Given the description of an element on the screen output the (x, y) to click on. 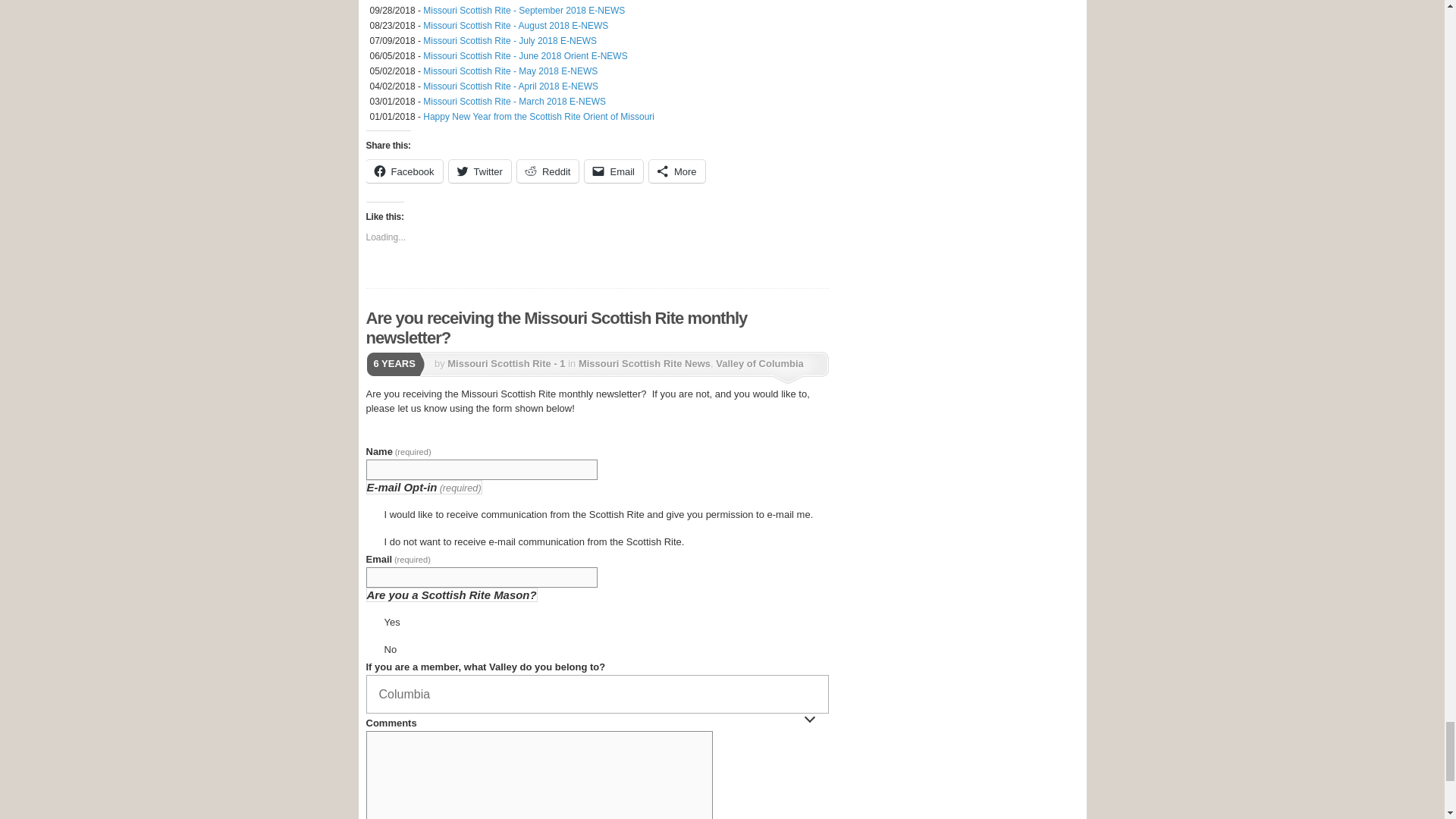
No (371, 646)
Yes (371, 619)
